Given the description of an element on the screen output the (x, y) to click on. 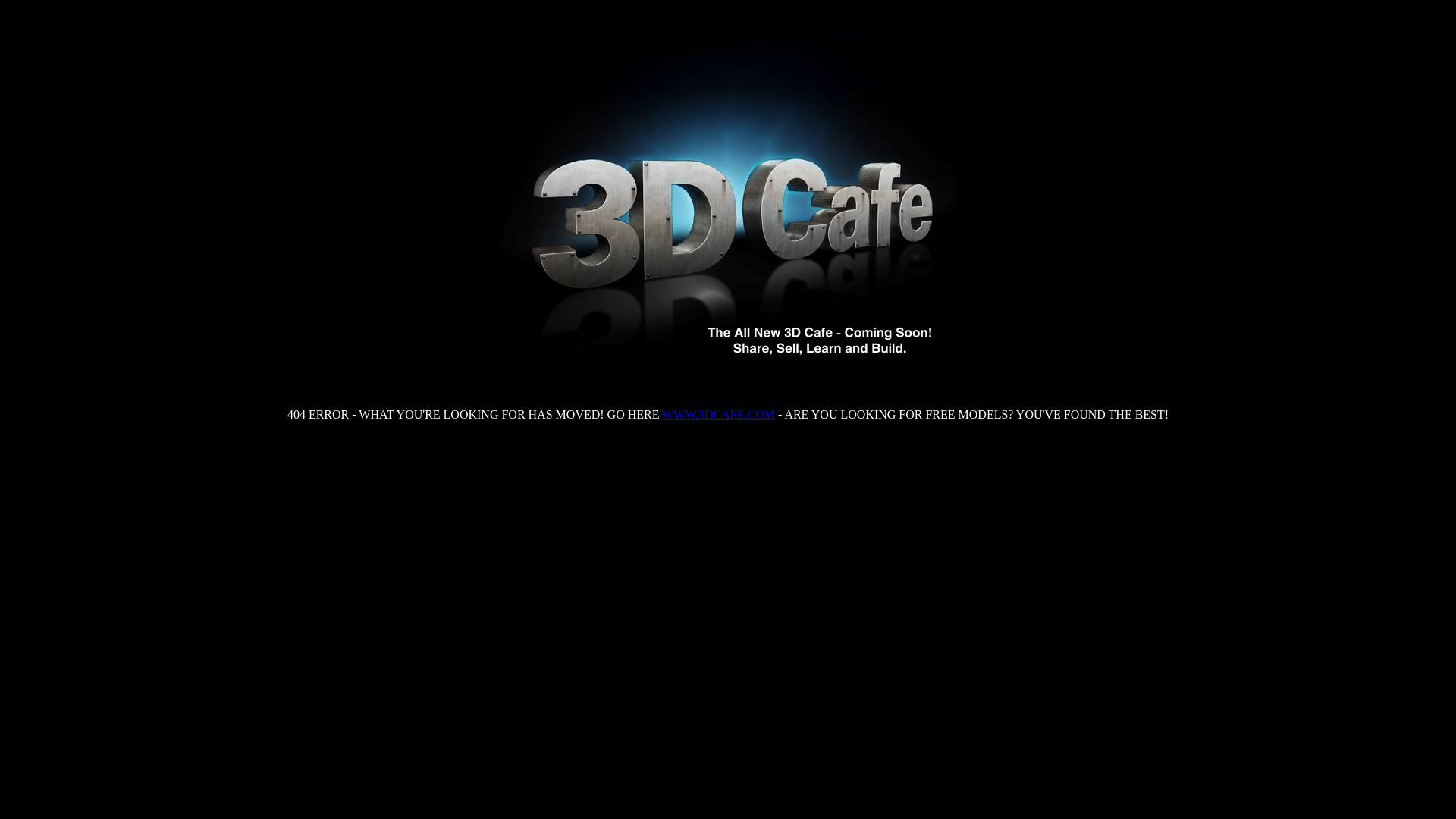
Advertisement Element type: hover (727, 481)
WWW.3DCAFE.COM Element type: text (718, 413)
